Given the description of an element on the screen output the (x, y) to click on. 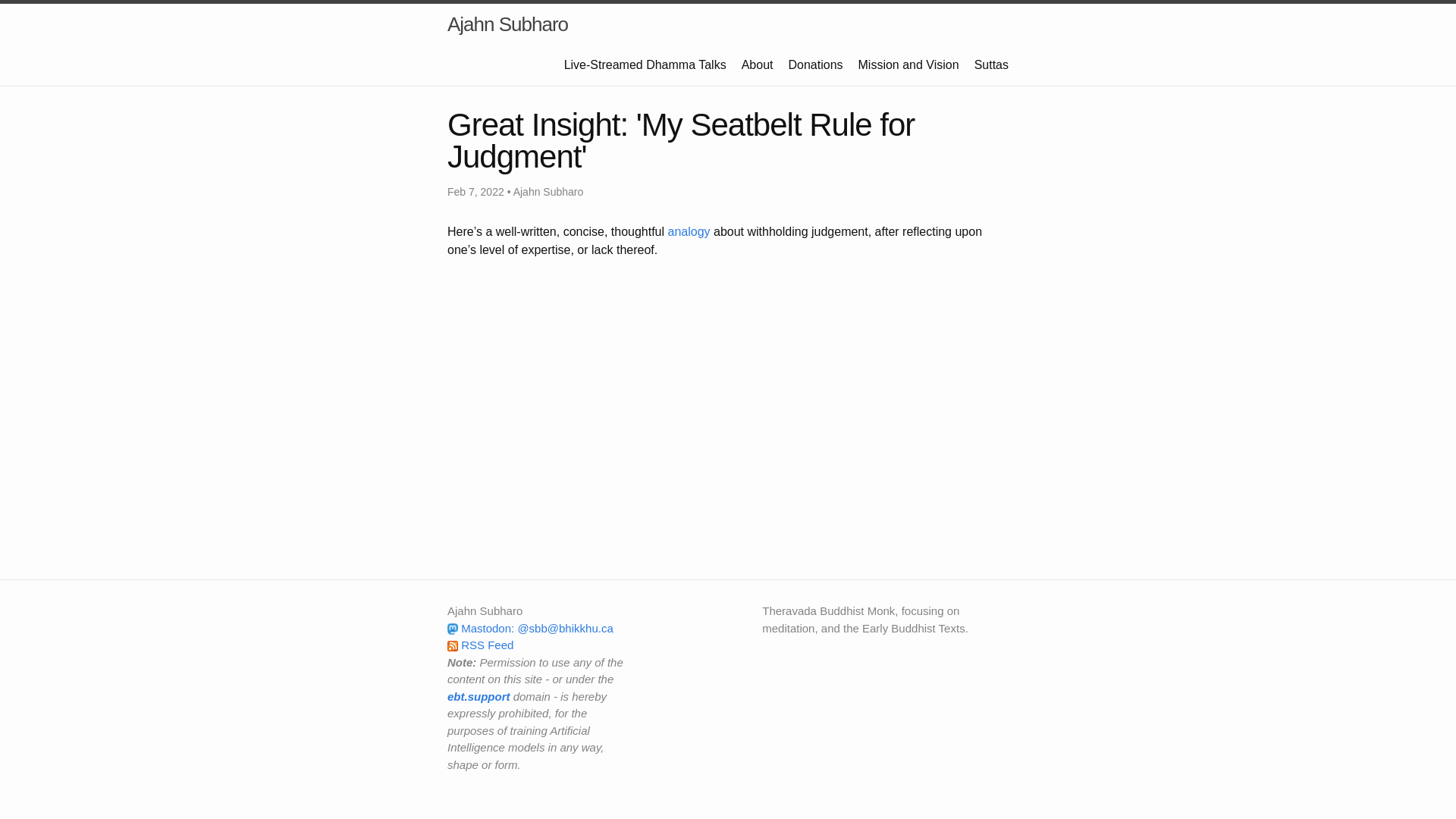
analogy Element type: text (689, 231)
Suttas Element type: text (991, 64)
ebt.support Element type: text (478, 696)
About Element type: text (757, 64)
Ajahn Subharo Element type: text (507, 23)
Mission and Vision Element type: text (908, 64)
Live-Streamed Dhamma Talks Element type: text (645, 64)
RSS Feed Element type: text (480, 644)
Donations Element type: text (814, 64)
Mastodon: @sbb@bhikkhu.ca Element type: text (537, 627)
